Given the description of an element on the screen output the (x, y) to click on. 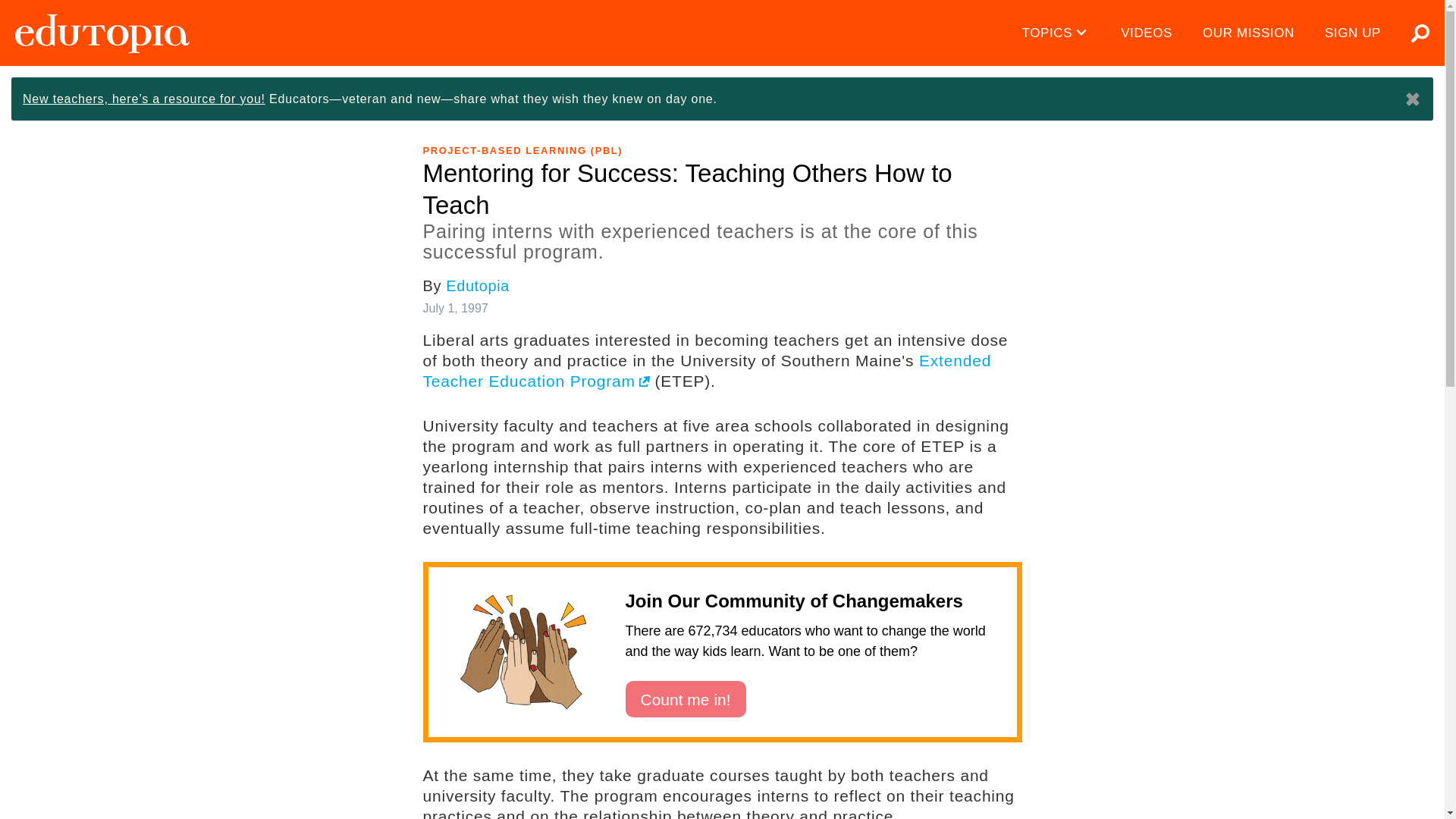
VIDEOS (1146, 33)
Extended Teacher Education Program (697, 305)
Edutopia (477, 219)
SIGN UP (1352, 33)
OUR MISSION (1248, 33)
Edutopia (101, 33)
Edutopia (101, 33)
TOPICS (1056, 33)
